Given the description of an element on the screen output the (x, y) to click on. 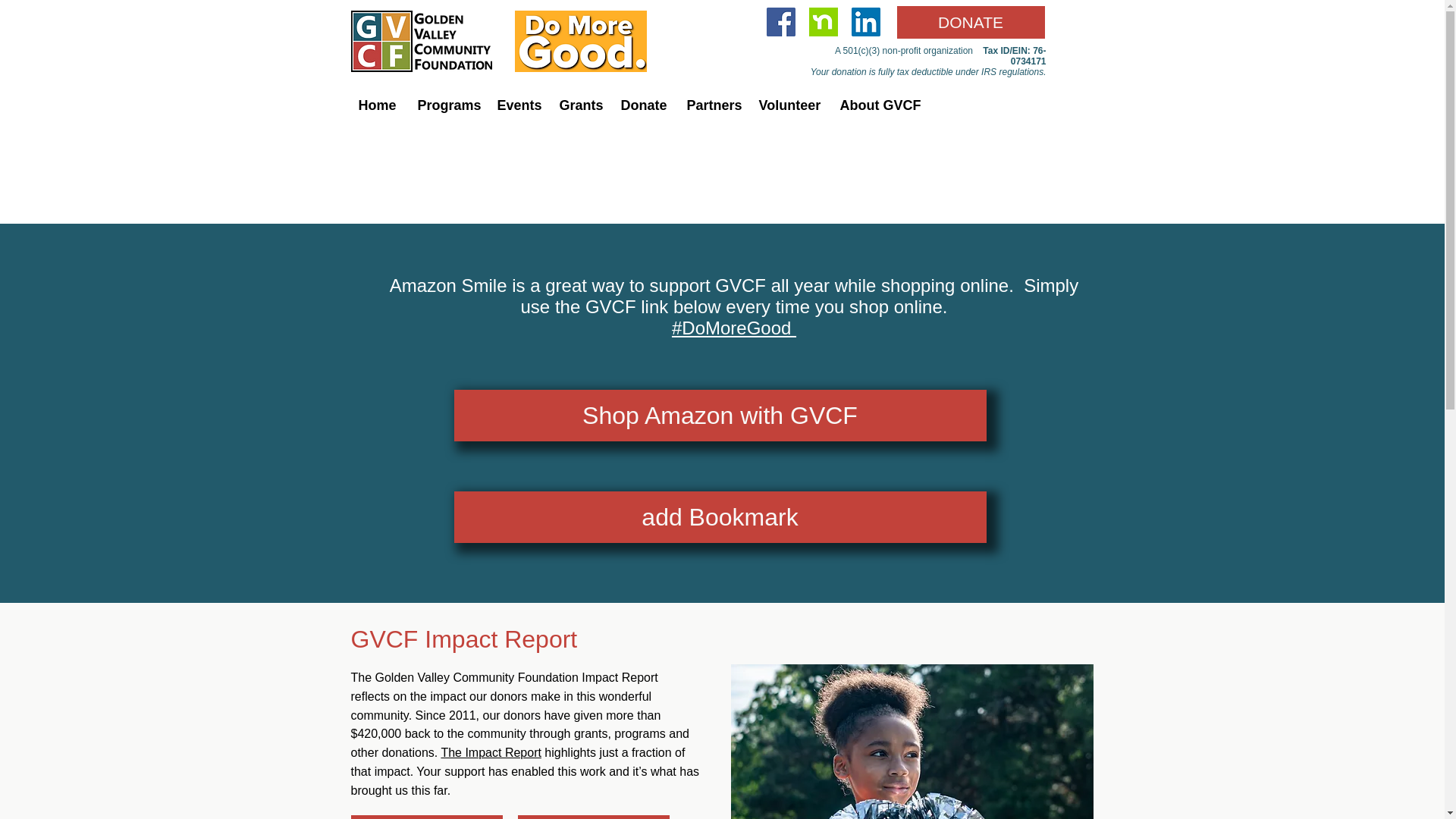
Do More Good Phrase ... Screen Shot 2022 (579, 41)
Donate (642, 105)
The Impact Report (491, 752)
Events (515, 105)
DONATE (969, 21)
Shop Amazon with GVCF (718, 415)
Home (376, 105)
Volunteer (788, 105)
Partners (710, 105)
About GVCF (877, 105)
